Given the description of an element on the screen output the (x, y) to click on. 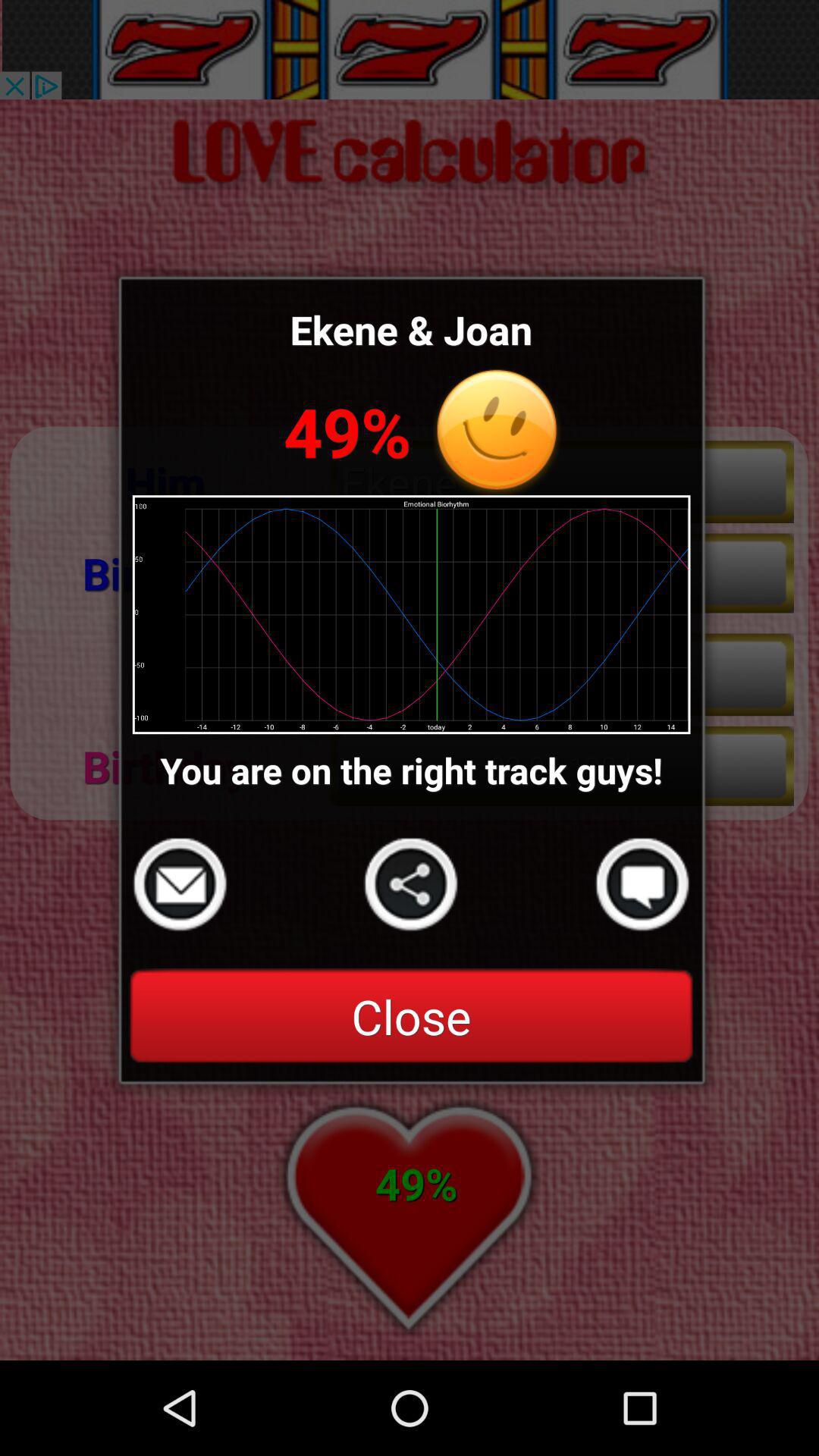
email the results (180, 884)
